Given the description of an element on the screen output the (x, y) to click on. 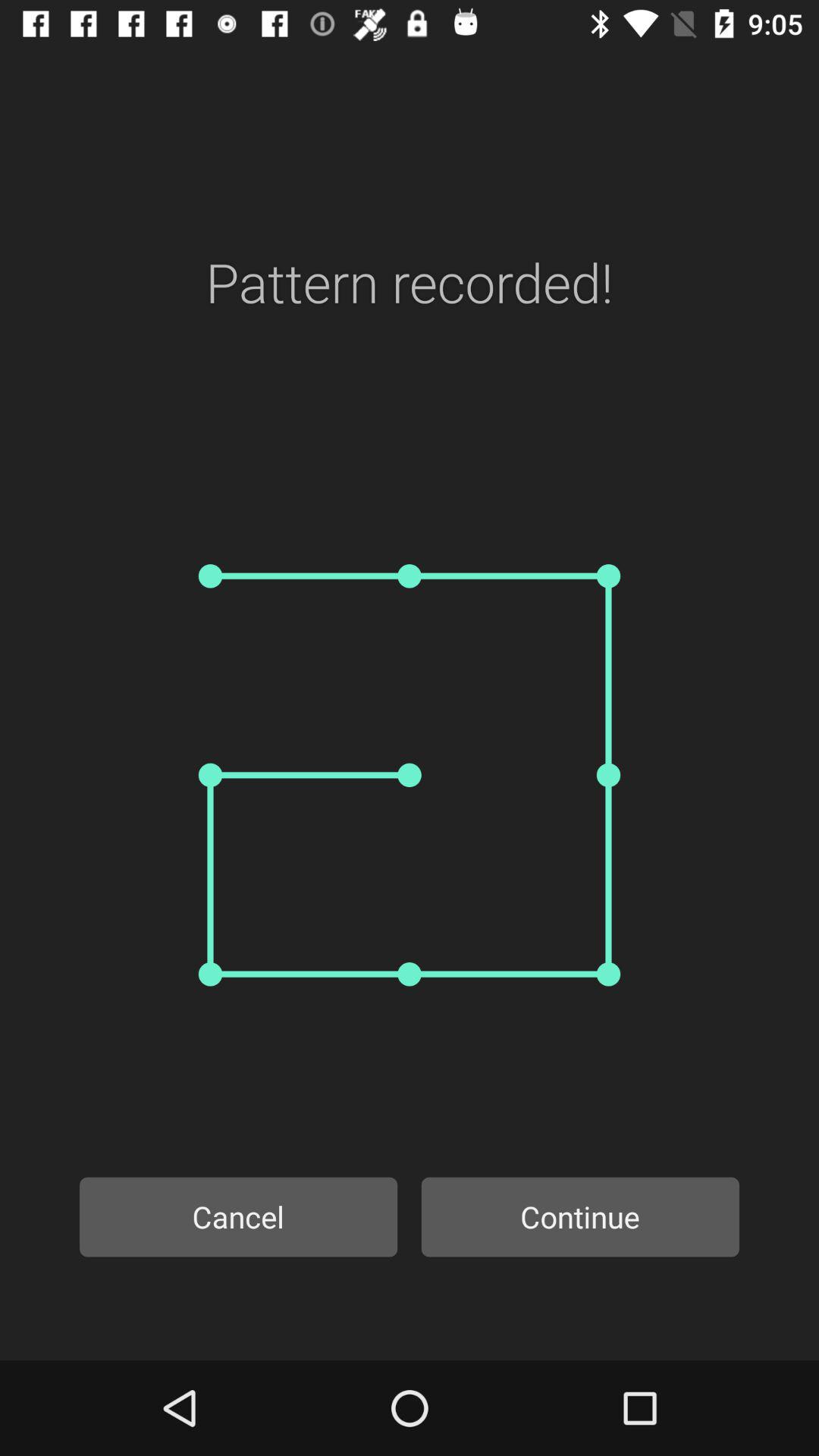
flip to cancel (238, 1216)
